Given the description of an element on the screen output the (x, y) to click on. 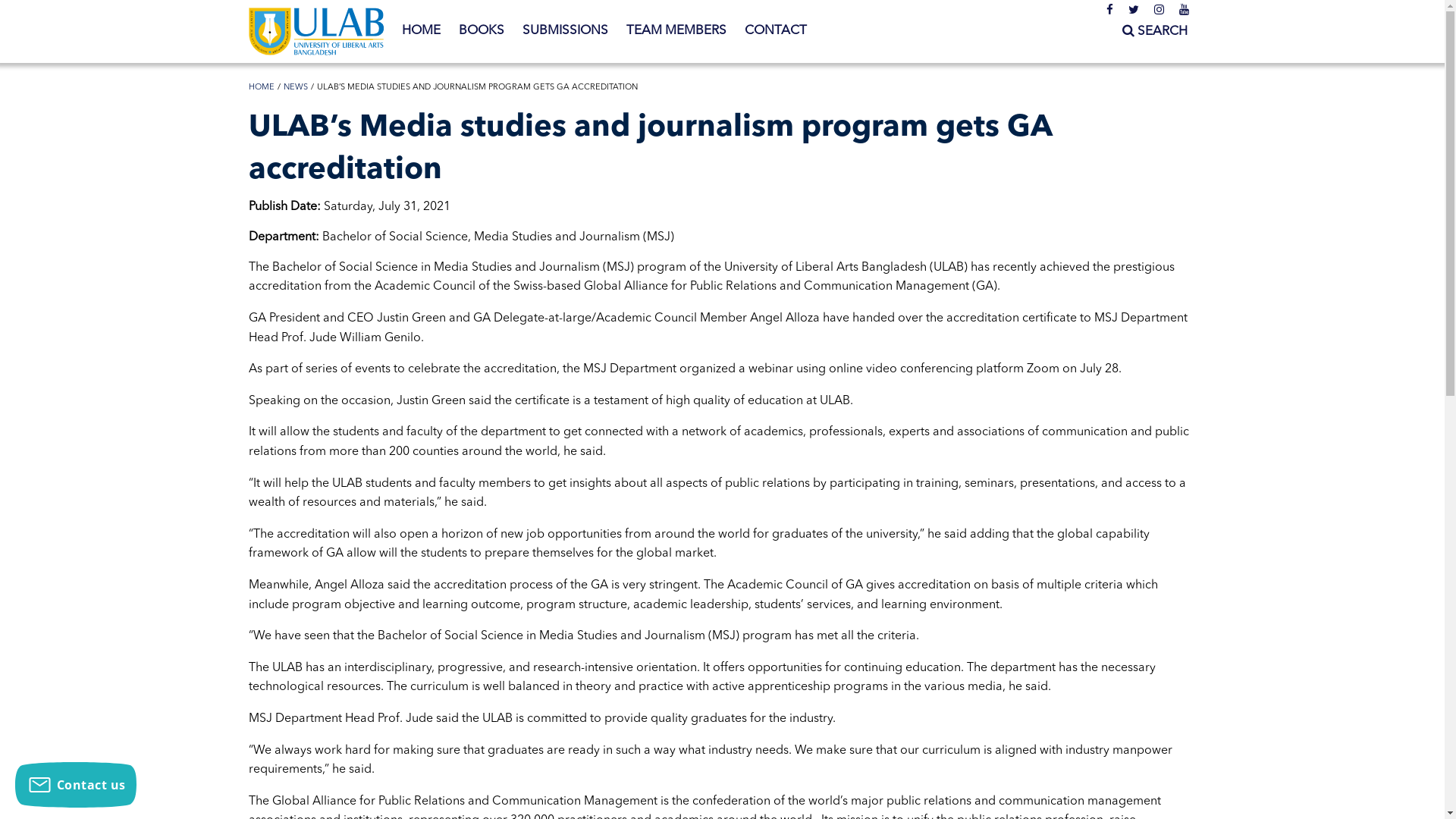
HOME Element type: text (261, 87)
SEARCH Element type: text (1154, 31)
HOME Element type: text (420, 30)
BOOKS Element type: text (480, 30)
CONTACT Element type: text (775, 30)
SUBMISSIONS Element type: text (564, 30)
NEWS Element type: text (295, 87)
Contact us Element type: text (75, 784)
TEAM MEMBERS Element type: text (676, 30)
Skip to main content Element type: text (61, 0)
